Given the description of an element on the screen output the (x, y) to click on. 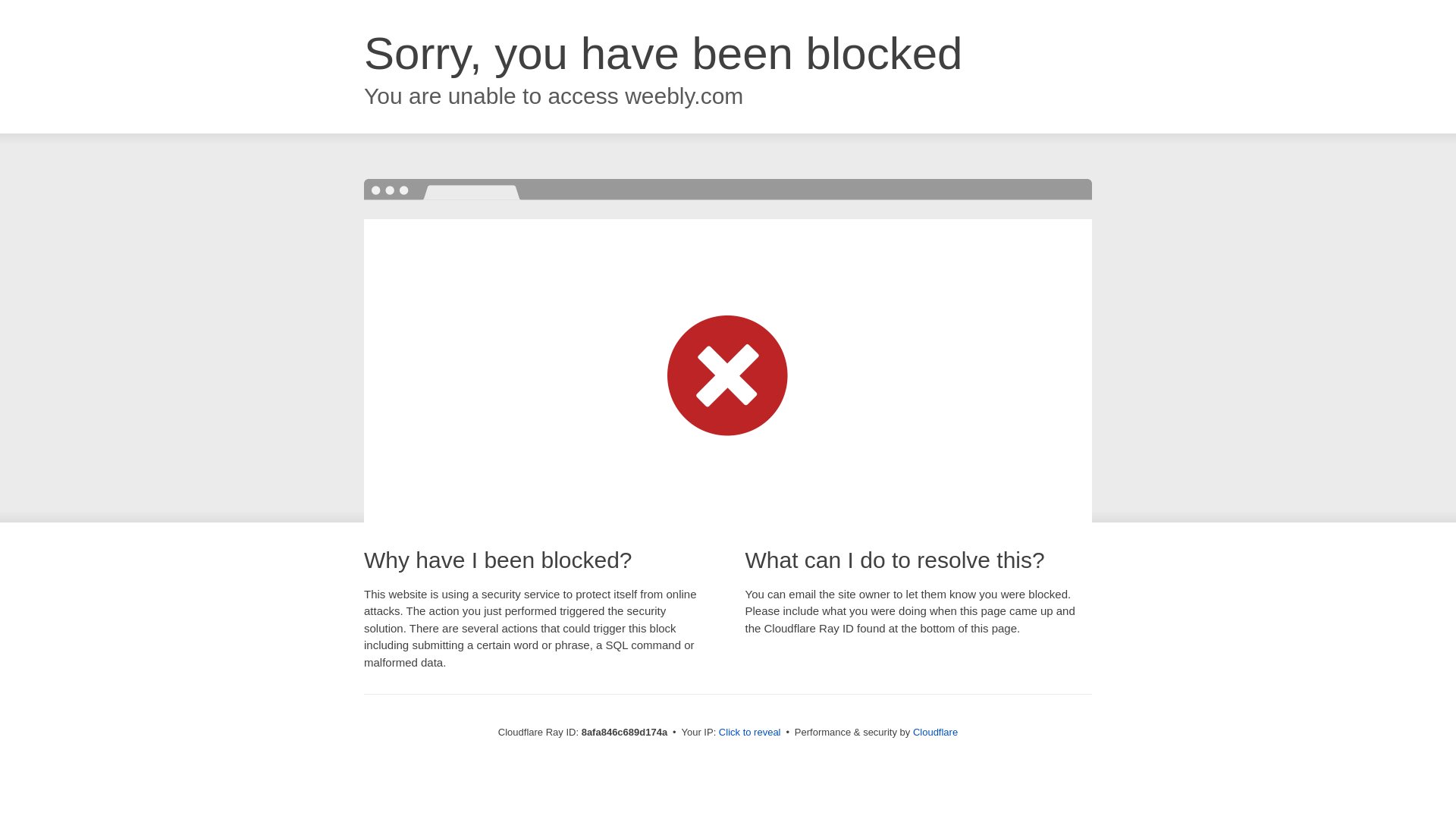
Cloudflare (935, 731)
Click to reveal (749, 732)
